Given the description of an element on the screen output the (x, y) to click on. 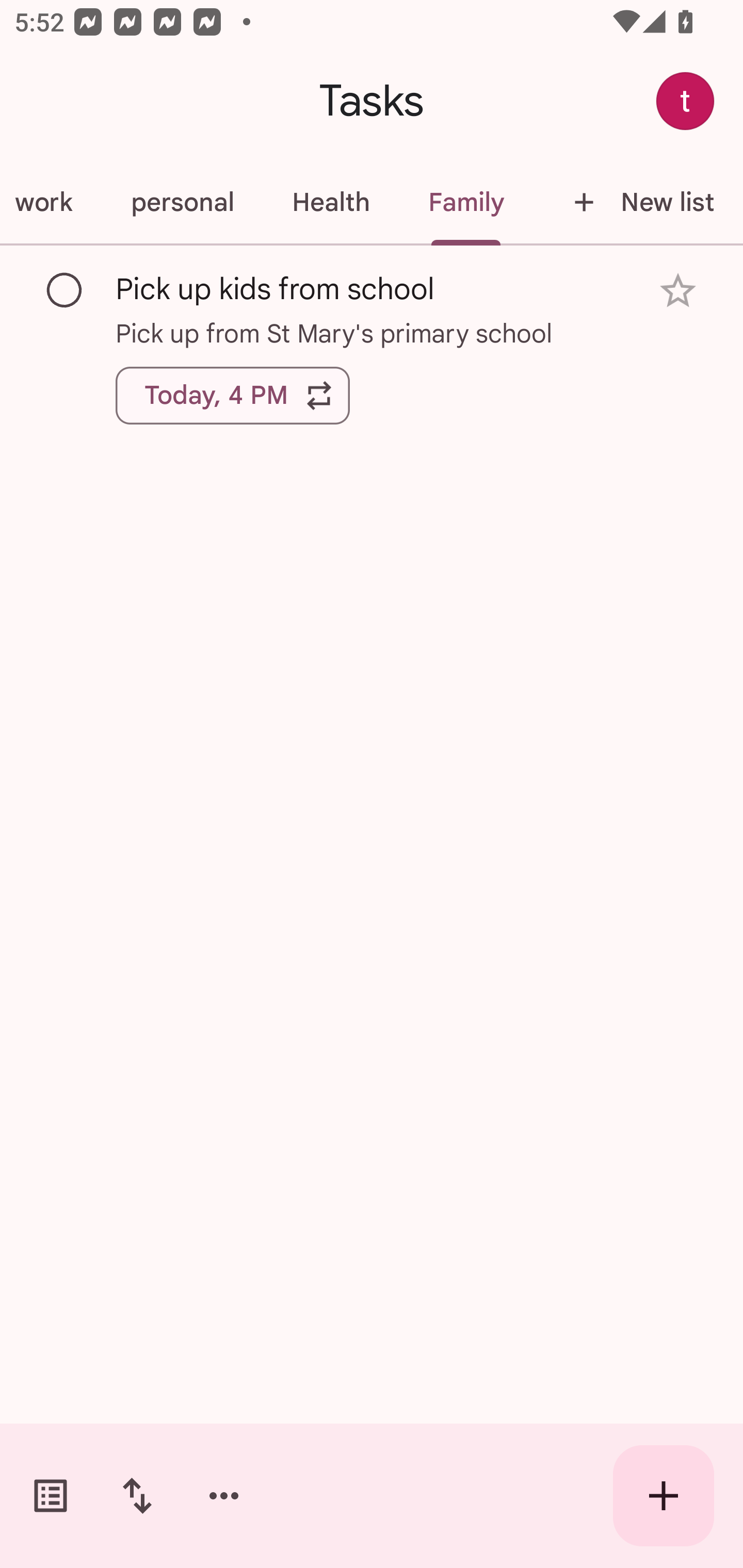
work (50, 202)
personal (181, 202)
Health (330, 202)
New list (638, 202)
Add star (677, 290)
Mark as complete (64, 290)
Pick up from St Mary's primary school (371, 332)
Today, 4 PM (232, 395)
Switch task lists (50, 1495)
Create new task (663, 1495)
Change sort order (136, 1495)
More options (223, 1495)
